Given the description of an element on the screen output the (x, y) to click on. 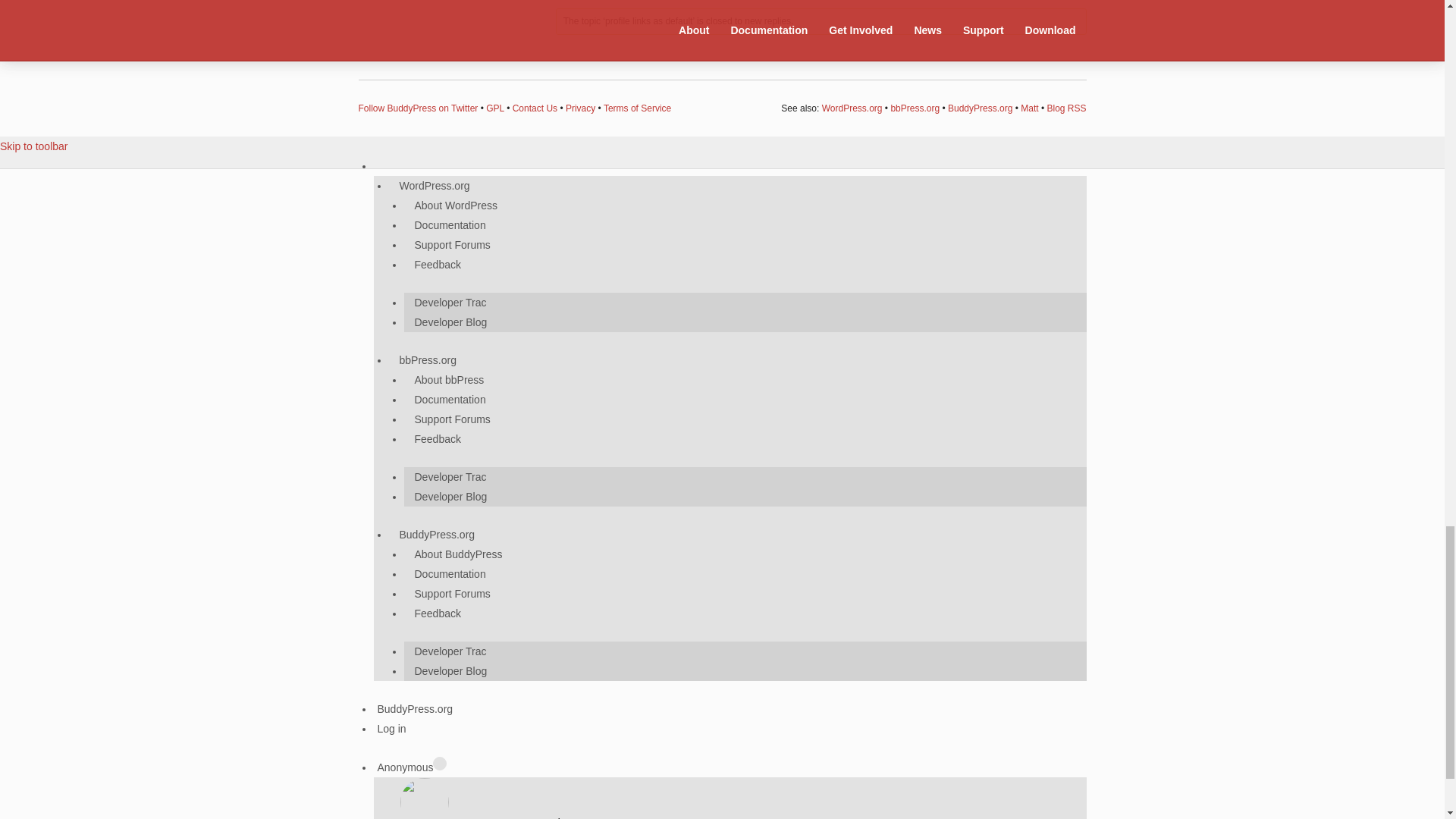
WordPress.org (852, 108)
bbPress.org (914, 108)
Matt (1029, 108)
BuddyPress.org (979, 108)
